Given the description of an element on the screen output the (x, y) to click on. 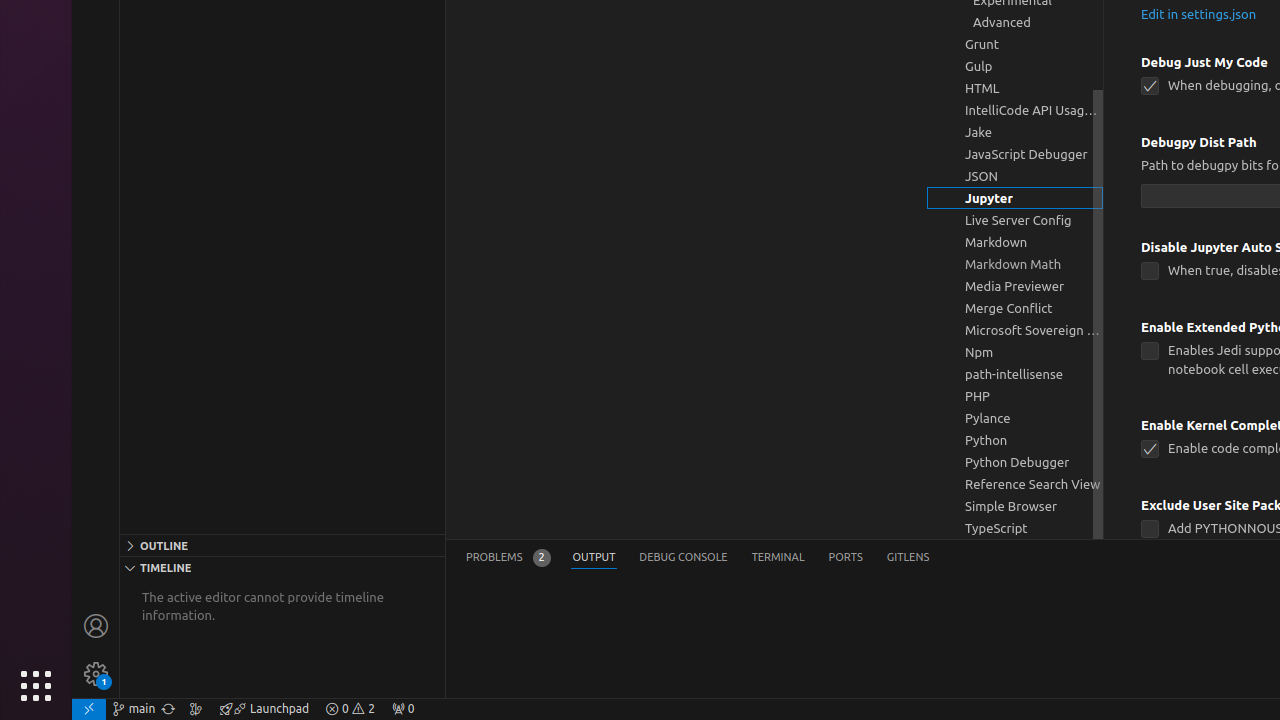
JSON, group Element type: tree-item (1015, 176)
Live Server Config, group Element type: tree-item (1015, 220)
IntelliCode API Usage Examples, group Element type: tree-item (1015, 110)
Debug Console (Ctrl+Shift+Y) Element type: page-tab (683, 557)
remote Element type: push-button (89, 709)
